Given the description of an element on the screen output the (x, y) to click on. 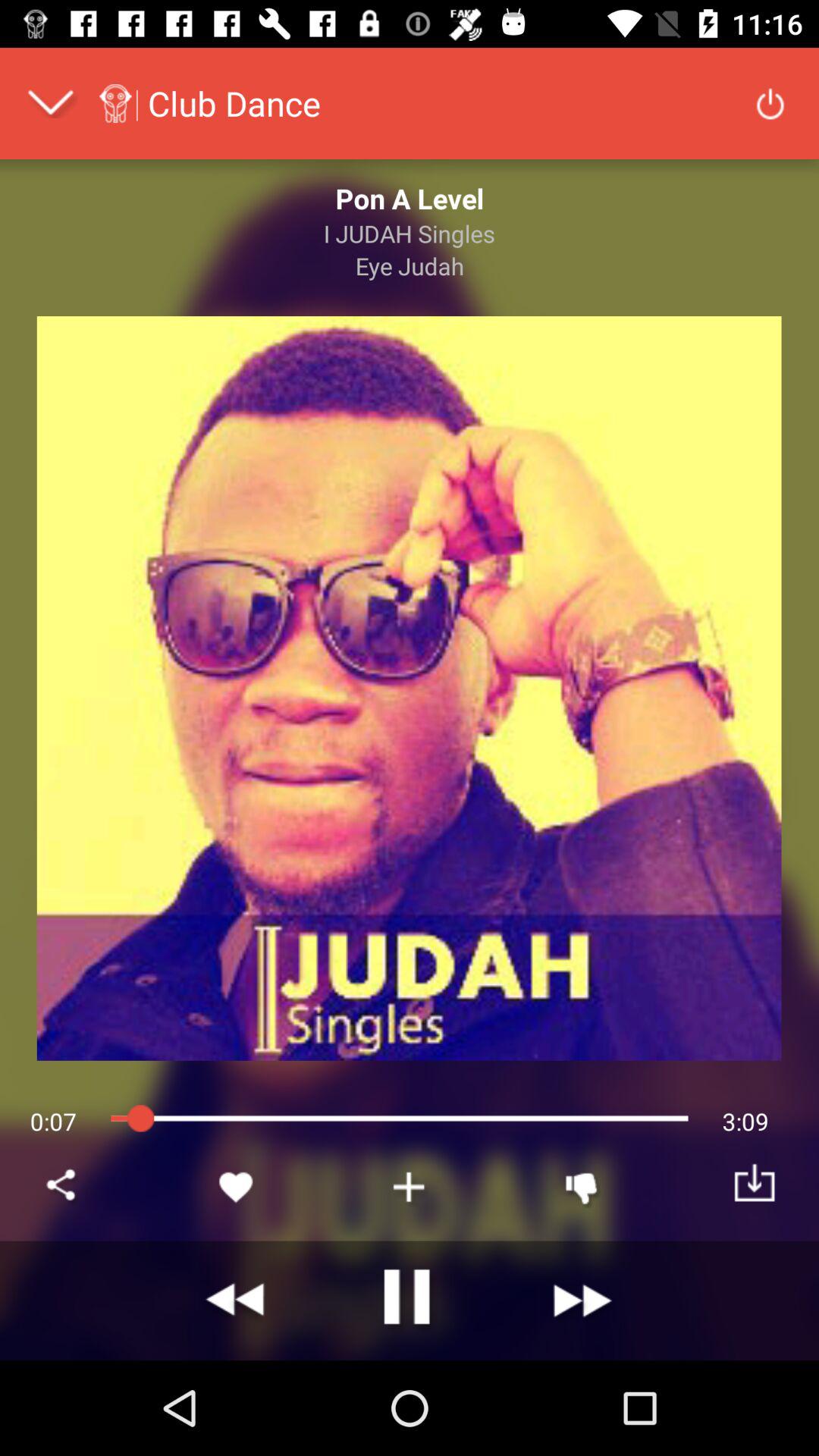
expand (50, 102)
